Given the description of an element on the screen output the (x, y) to click on. 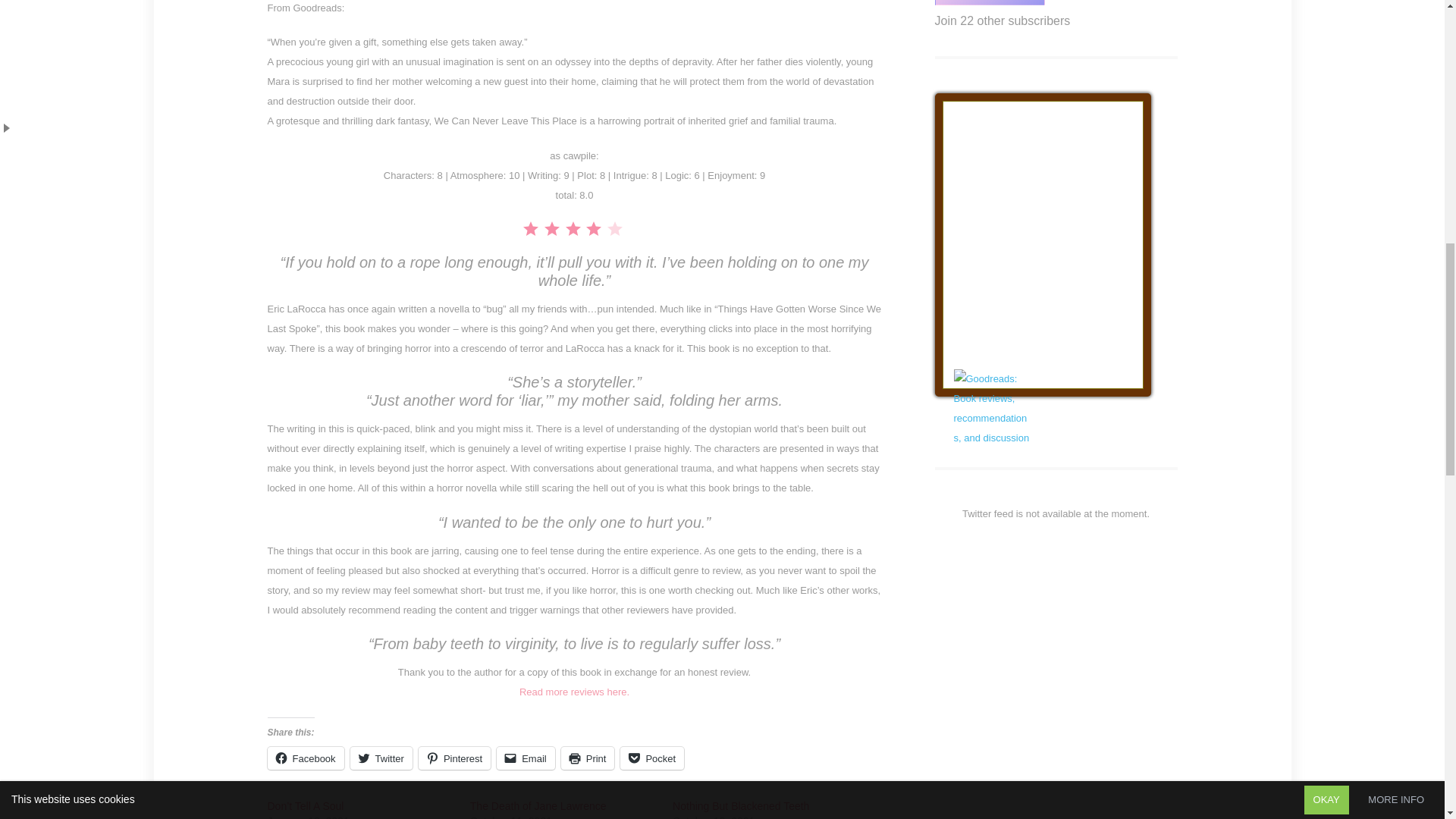
Click to print (587, 757)
The Death of Jane Lawrence (538, 806)
Click to share on Pocket (652, 757)
Click to share on Pinterest (454, 757)
Click to share on Facebook (304, 757)
Click to email a link to a friend (525, 757)
Click to share on Twitter (381, 757)
Nothing But Blackened Teeth (740, 806)
